Given the description of an element on the screen output the (x, y) to click on. 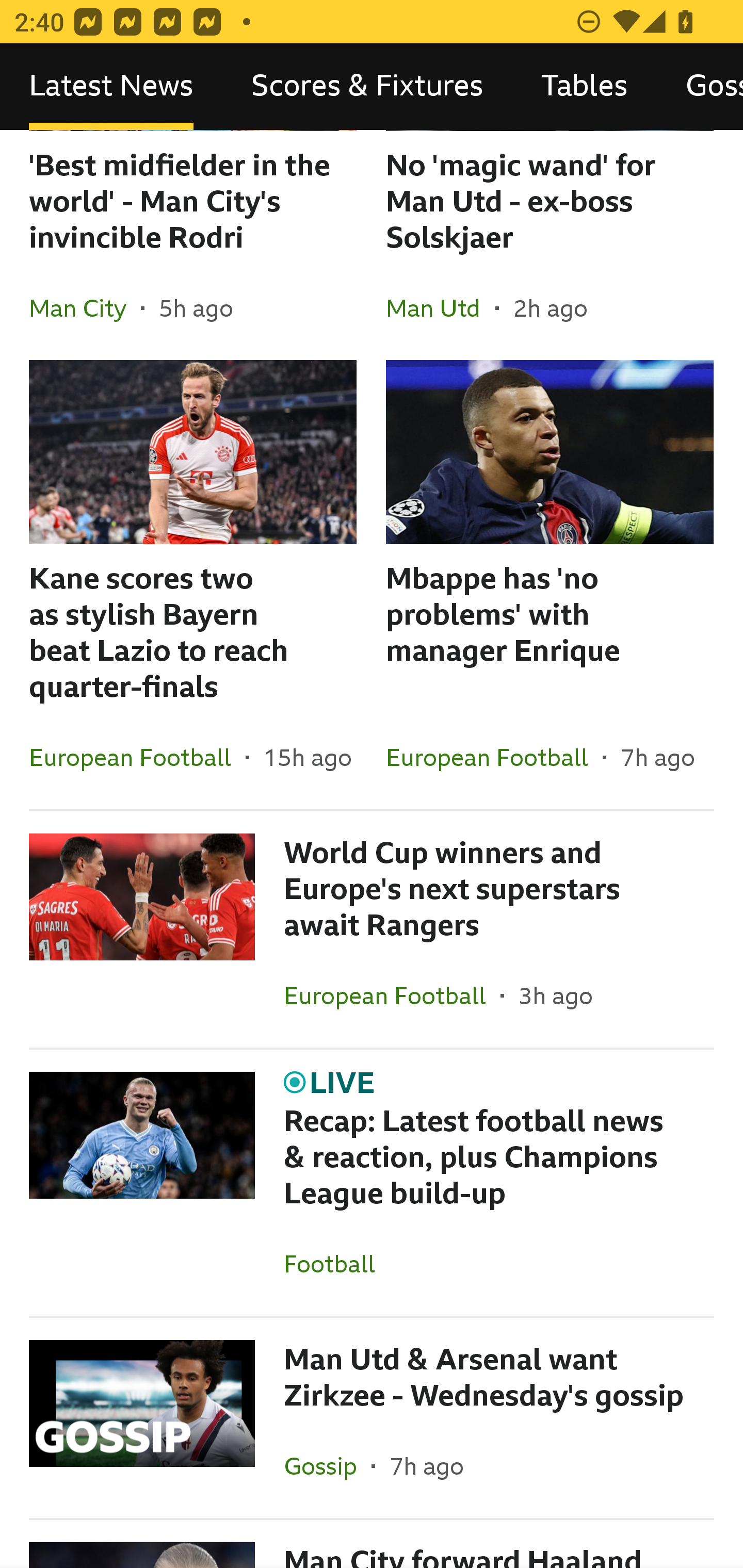
Latest News, selected Latest News (111, 86)
Scores & Fixtures (367, 86)
Tables (584, 86)
Gossip (699, 86)
Man City In the section Man City (84, 307)
Man Utd In the section Man Utd (440, 307)
European Football In the section European Football (136, 757)
European Football In the section European Football (493, 757)
European Football In the section European Football (391, 995)
